Given the description of an element on the screen output the (x, y) to click on. 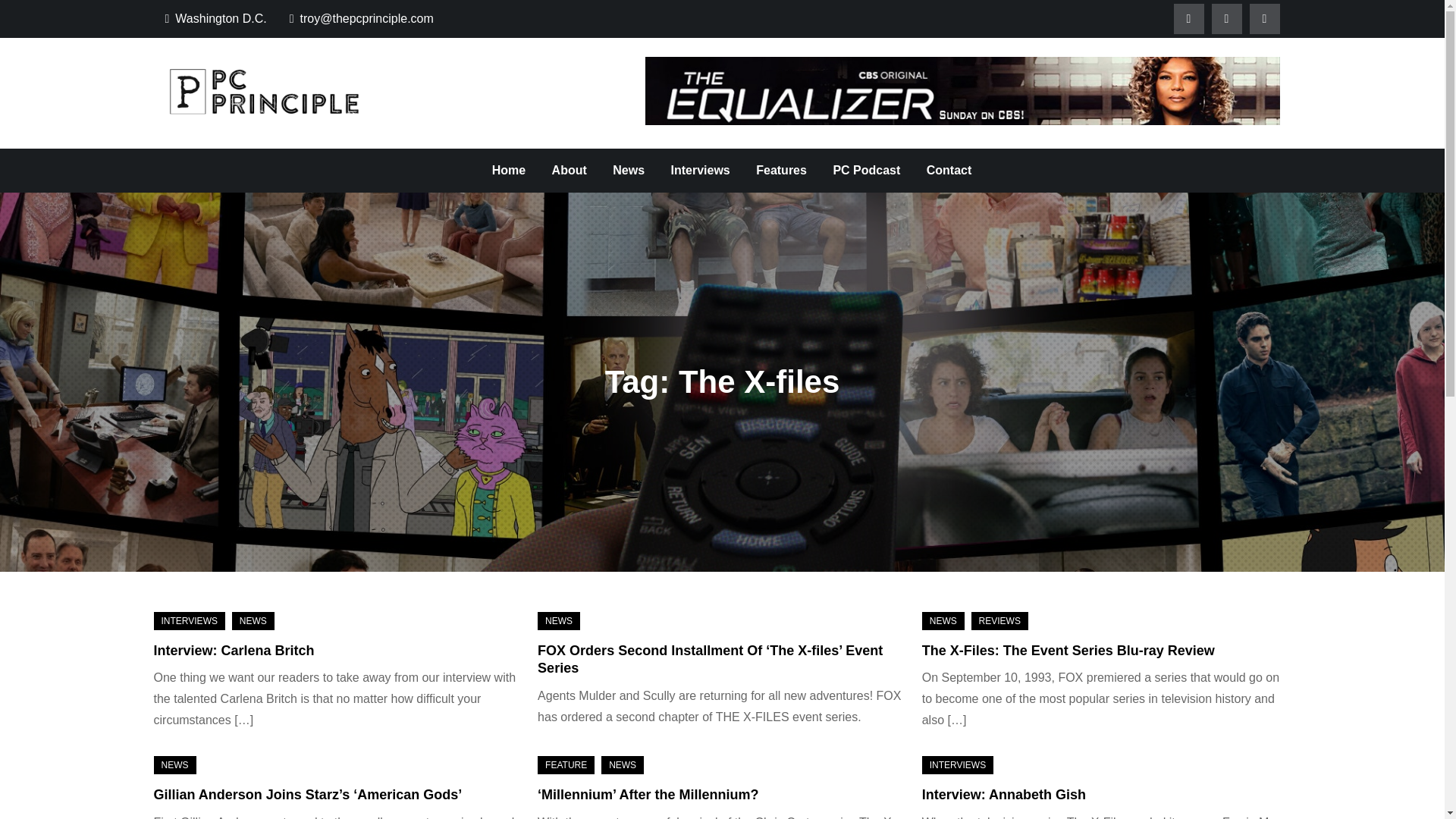
NEWS (622, 764)
Interview: Annabeth Gish (1003, 794)
News (628, 170)
INTERVIEWS (956, 764)
Home (508, 170)
NEWS (558, 620)
NEWS (253, 620)
FEATURE (565, 764)
PC Podcast (866, 170)
REVIEWS (999, 620)
INTERVIEWS (188, 620)
The X-Files: The Event Series Blu-ray Review (1067, 650)
NEWS (173, 764)
Interview: Carlena Britch (233, 650)
NEWS (942, 620)
